Given the description of an element on the screen output the (x, y) to click on. 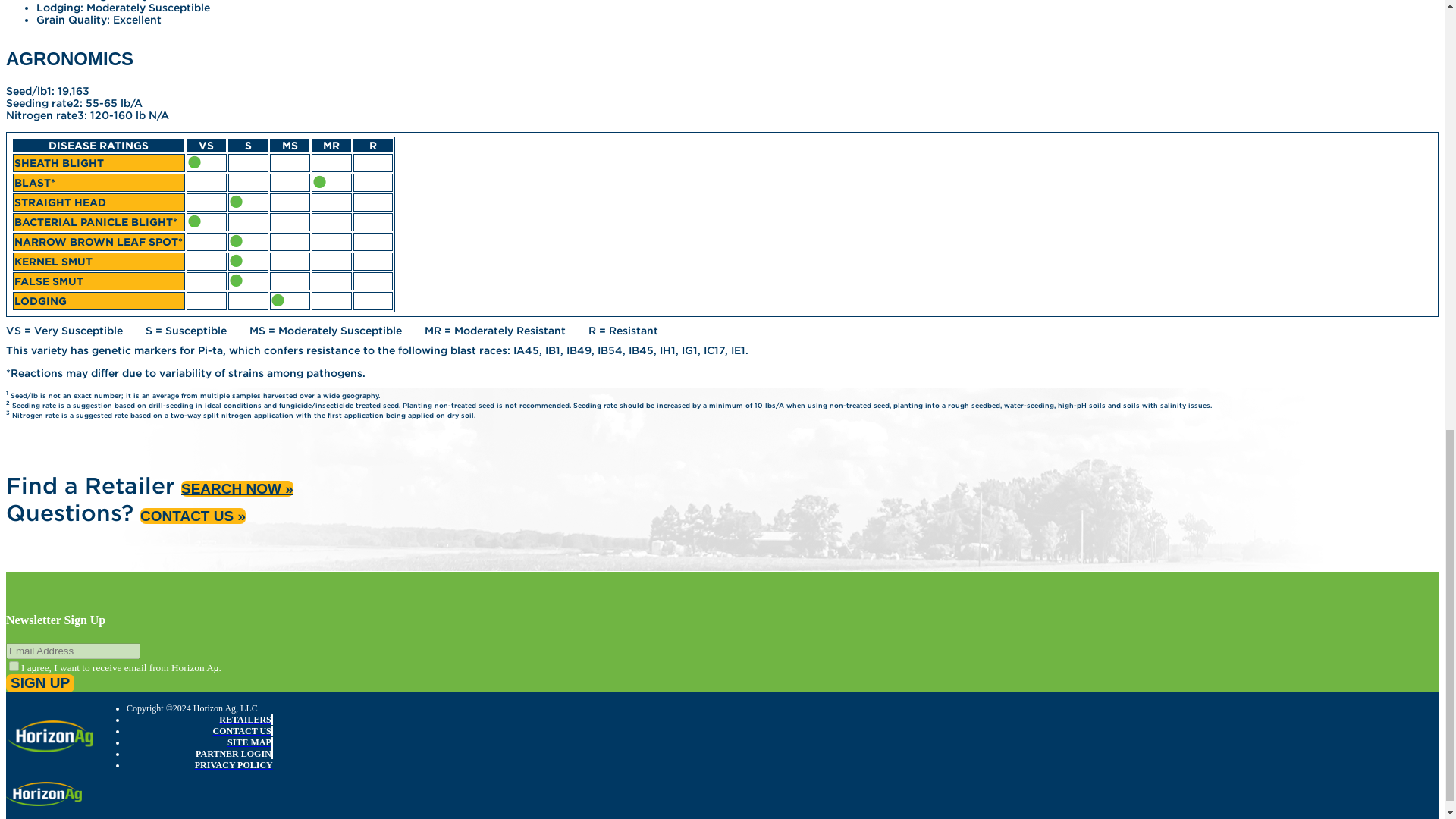
PARTNER LOGIN (234, 753)
RETAILERS (245, 719)
Sign Up (39, 683)
SITE MAP (250, 742)
PRIVACY POLICY (234, 765)
CONTACT US (242, 730)
on (13, 665)
